Given the description of an element on the screen output the (x, y) to click on. 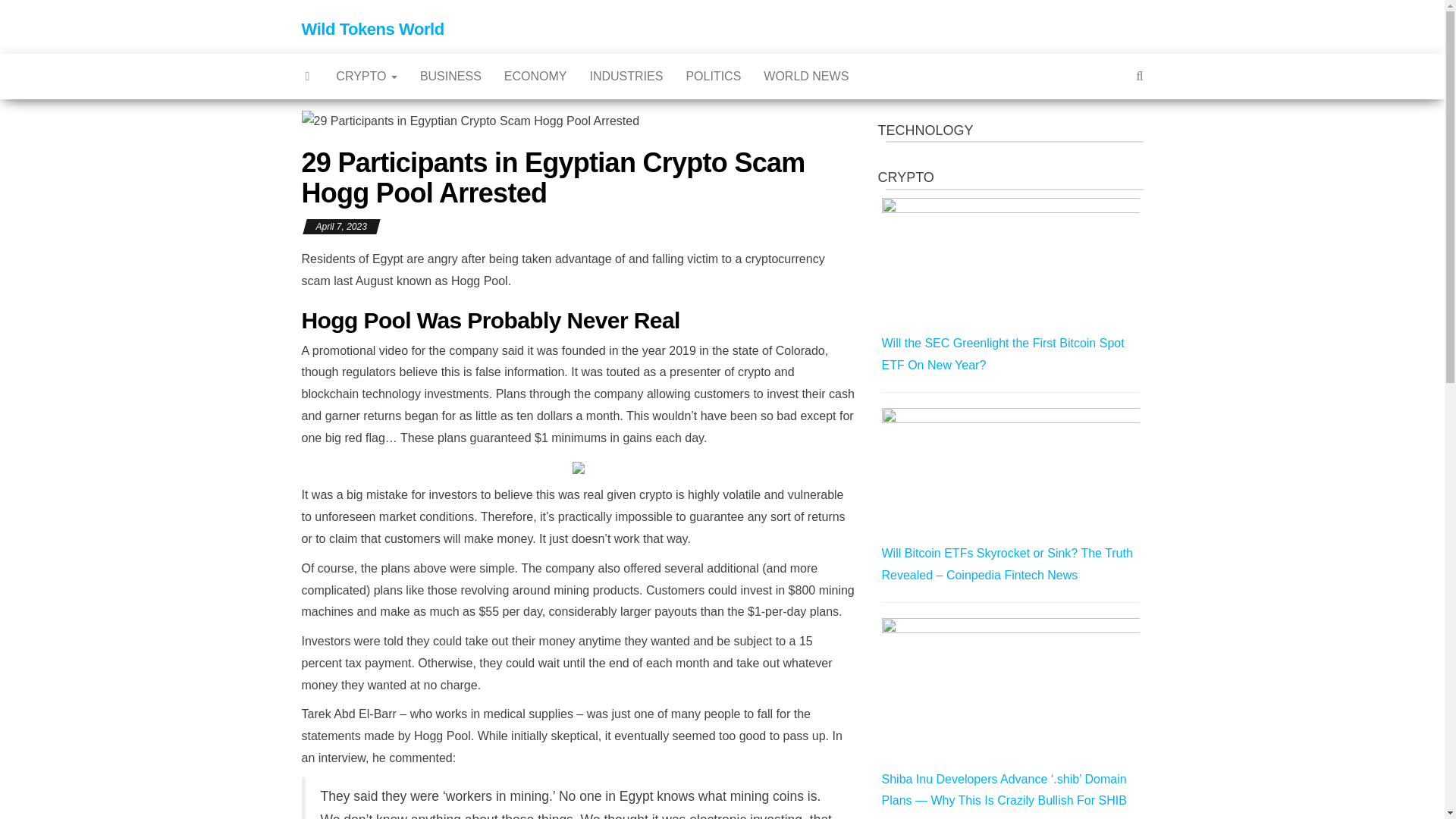
Wild Tokens World (372, 28)
Industries (626, 76)
Economy (535, 76)
BUSINESS (451, 76)
CRYPTO (366, 76)
29 Participants in Egyptian Crypto Scam Hogg Pool Arrested (470, 121)
INDUSTRIES (626, 76)
World News (806, 76)
Business (451, 76)
Politics (713, 76)
ECONOMY (535, 76)
Crypto (366, 76)
